Given the description of an element on the screen output the (x, y) to click on. 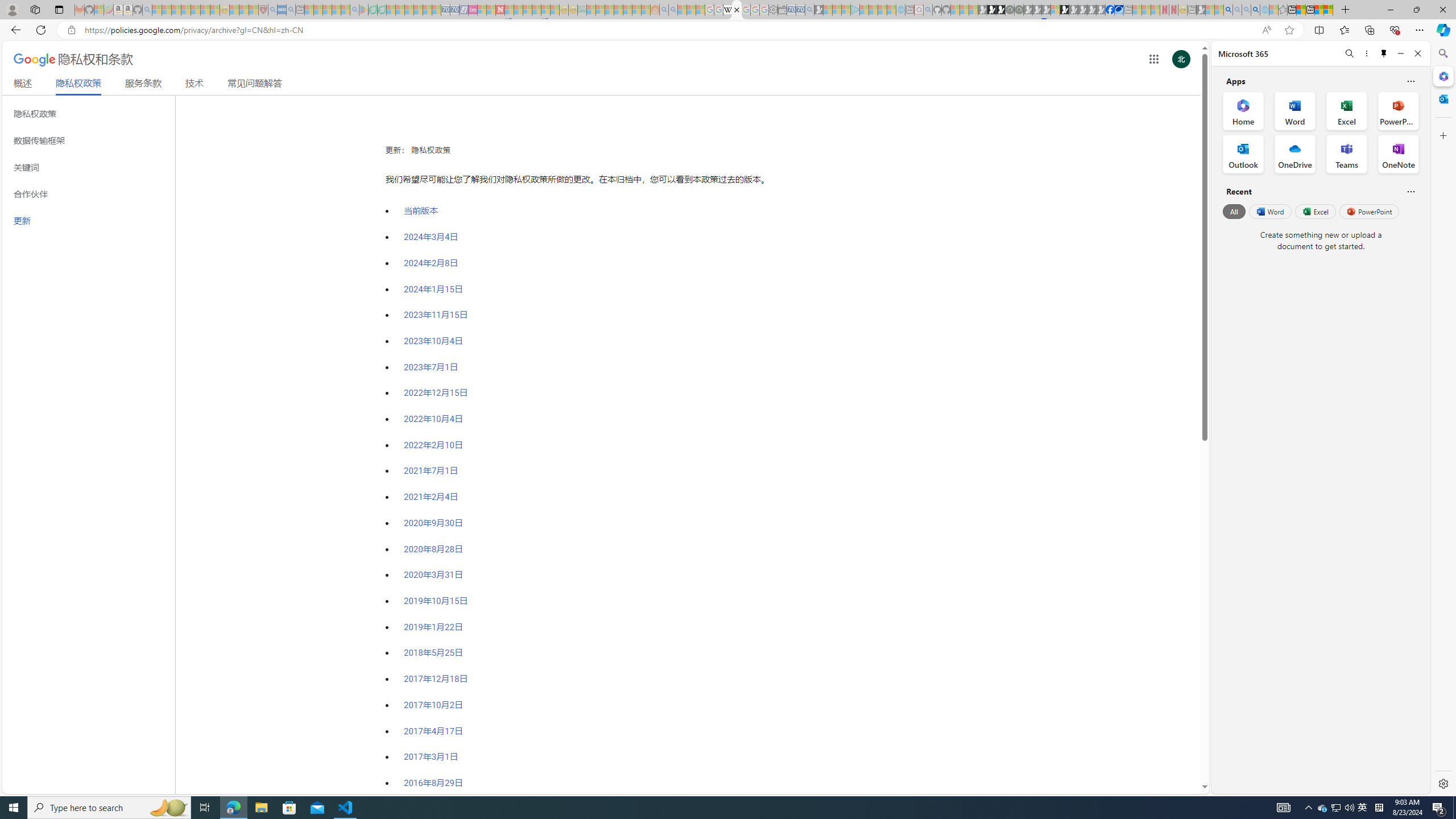
Bluey: Let's Play! - Apps on Google Play - Sleeping (362, 9)
Recipes - MSN - Sleeping (234, 9)
Word Office App (1295, 110)
PowerPoint Office App (1398, 110)
